Given the description of an element on the screen output the (x, y) to click on. 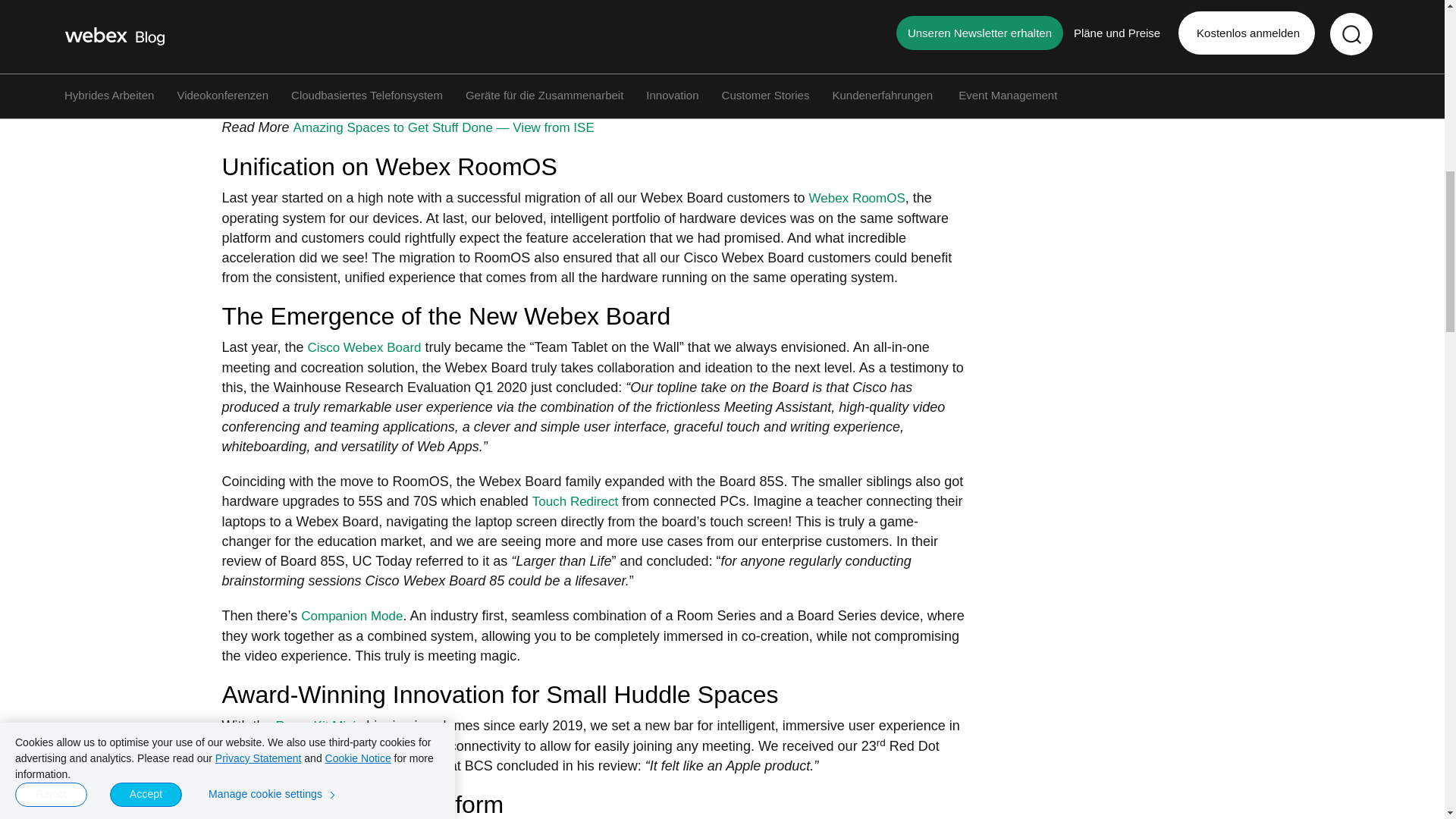
Cisco Webex Board (364, 347)
Webex RoomOS (857, 197)
